Given the description of an element on the screen output the (x, y) to click on. 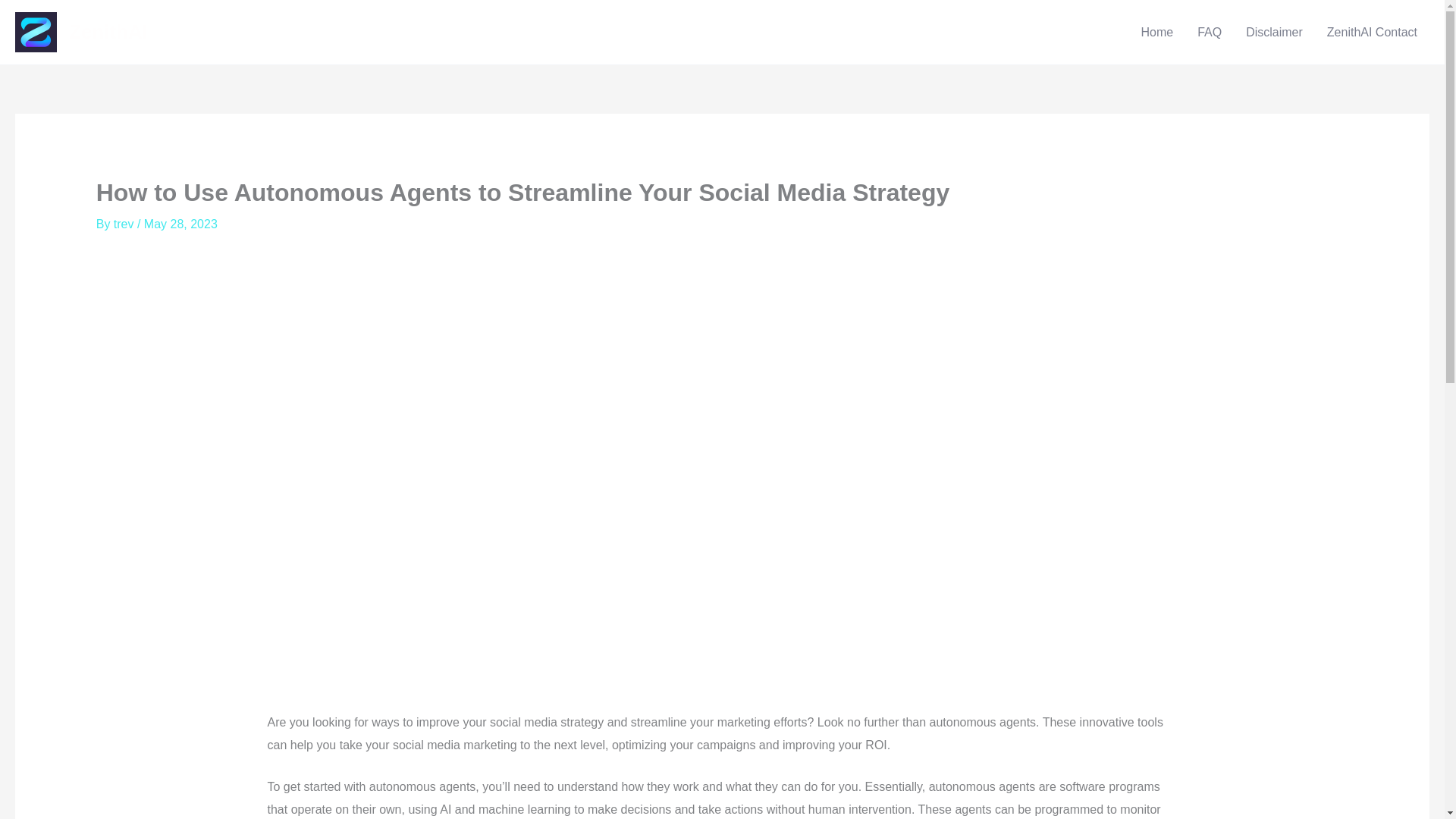
Home (1156, 31)
ZenithAI (108, 31)
Disclaimer (1273, 31)
View all posts by trev (124, 223)
ZenithAI Contact (1371, 31)
trev (124, 223)
